Given the description of an element on the screen output the (x, y) to click on. 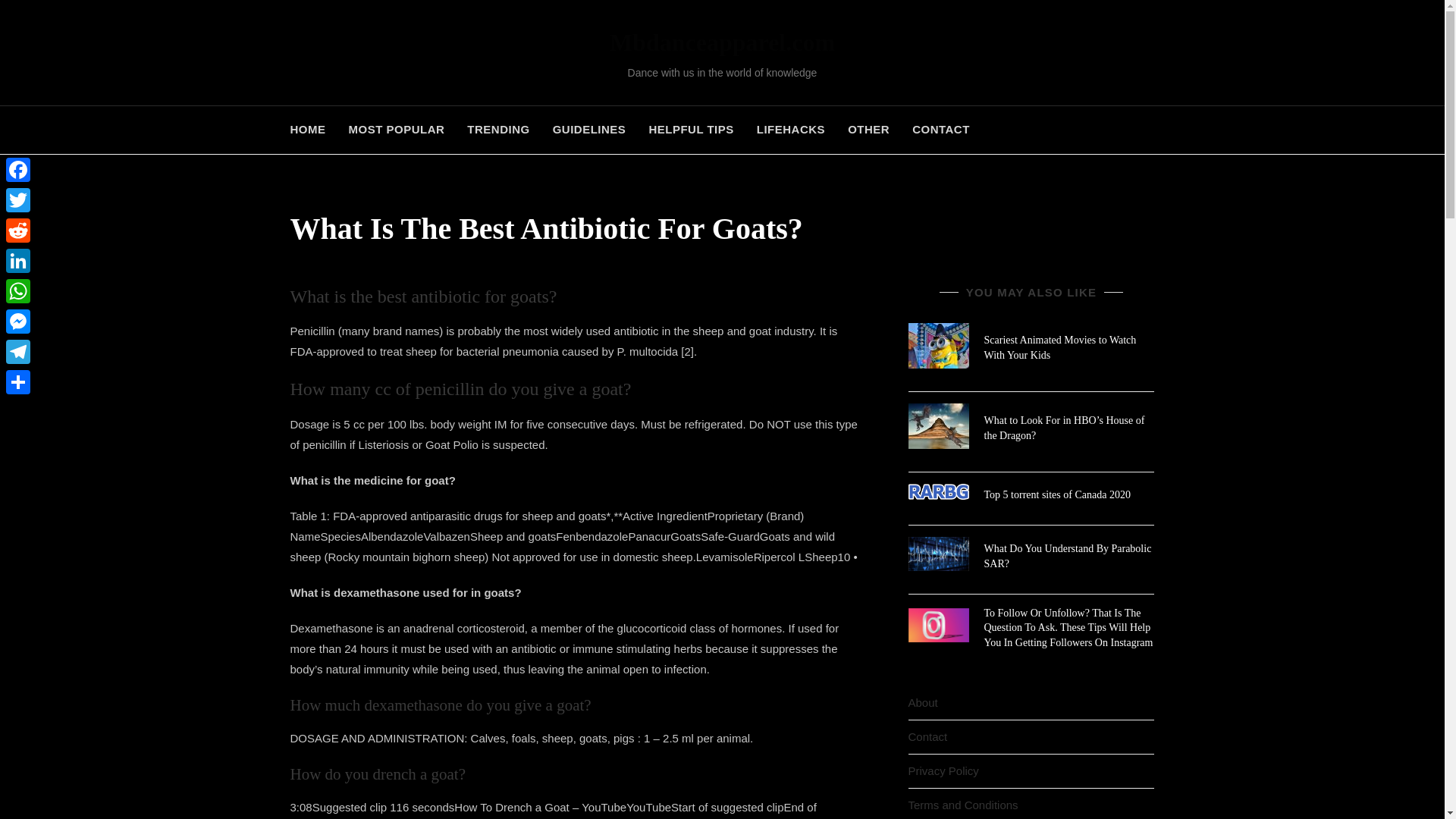
Messenger (17, 321)
WhatsApp (17, 291)
HELPFUL TIPS (690, 129)
Mbdanceapparel.com (722, 42)
LinkedIn (17, 260)
Facebook (17, 169)
OTHER (868, 129)
LIFEHACKS (790, 129)
Twitter (17, 200)
Reddit (17, 230)
HOME (312, 129)
CONTACT (941, 129)
Scariest Animated Movies to Watch With Your Kids (1060, 347)
Telegram (17, 351)
TRENDING (497, 129)
